Given the description of an element on the screen output the (x, y) to click on. 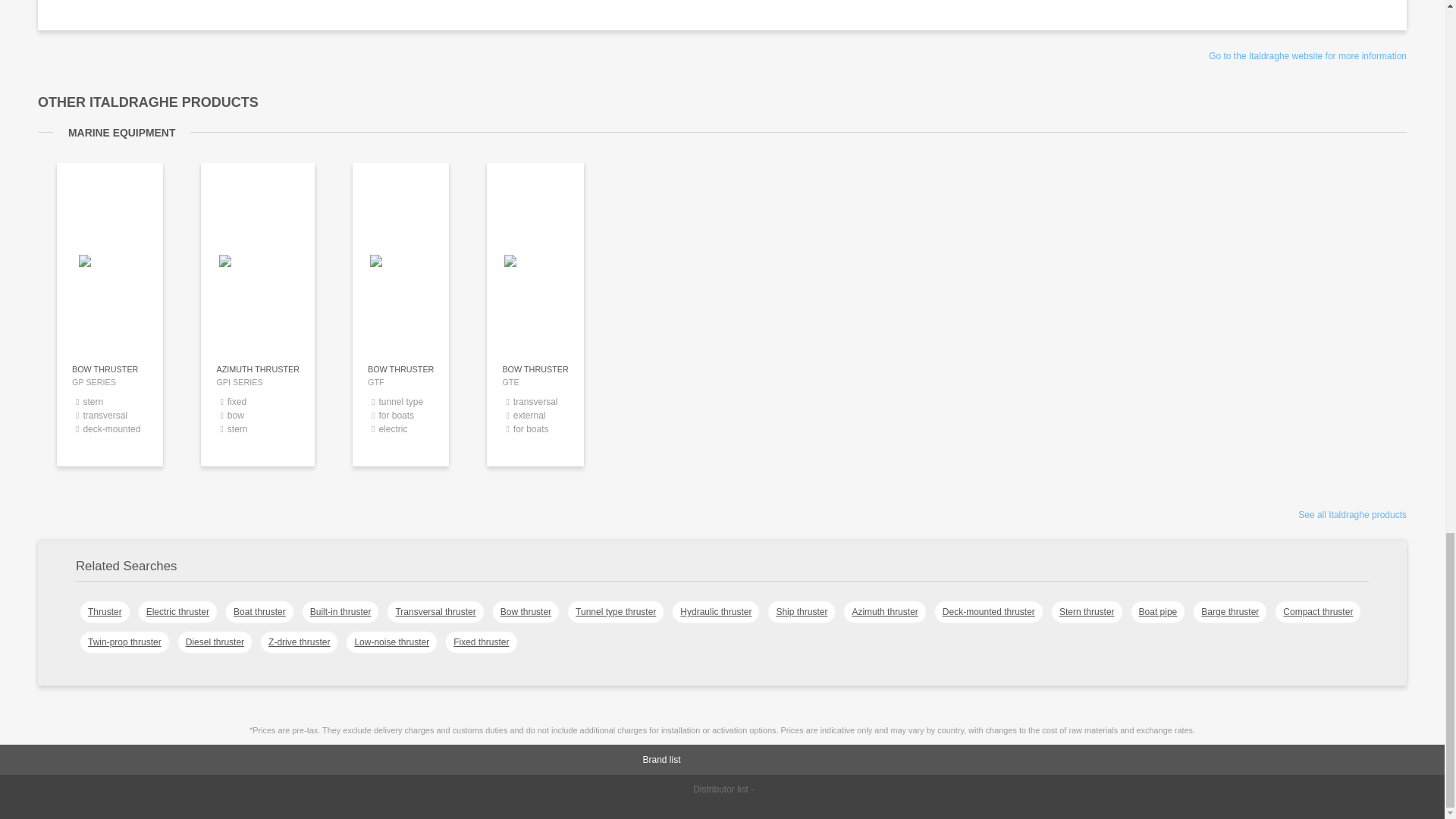
Go to the Italdraghe website for more information (257, 411)
Transversal thruster (1307, 55)
Bow thruster (435, 611)
See all Italdraghe products (534, 411)
Boat thruster (525, 611)
Electric thruster (1352, 514)
Built-in thruster (259, 611)
